Given the description of an element on the screen output the (x, y) to click on. 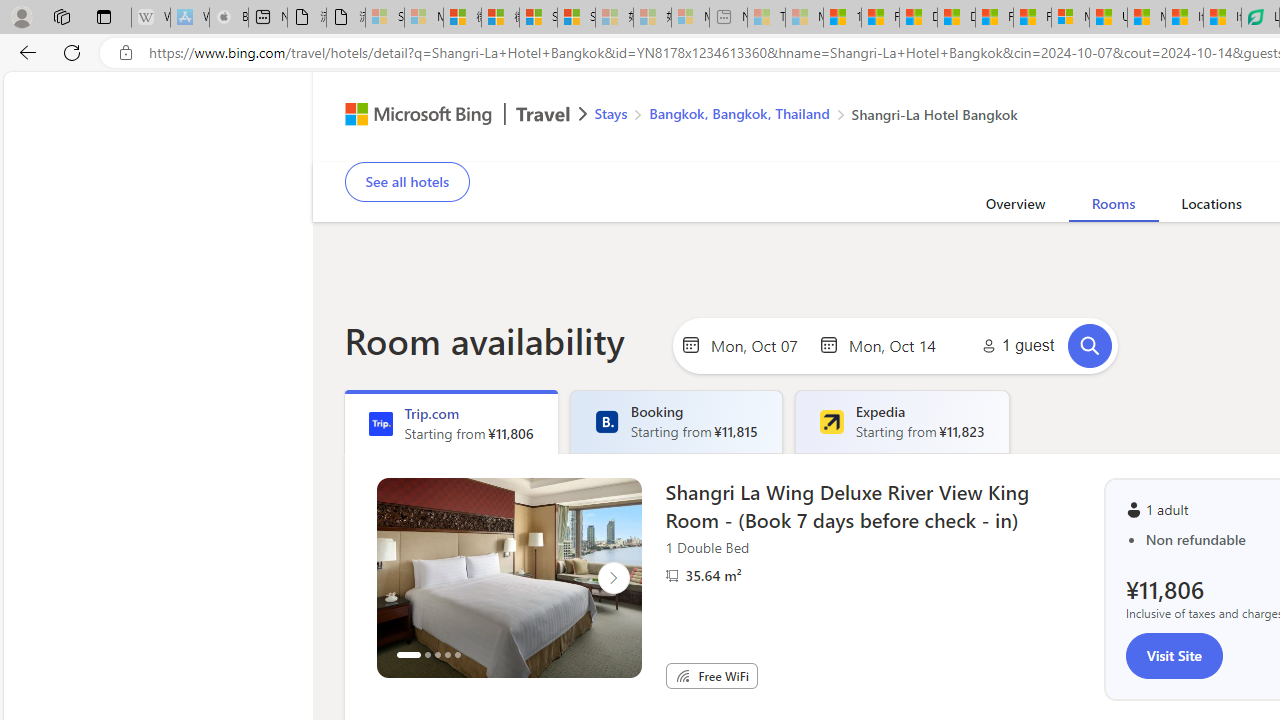
Locations (1211, 207)
Microsoft Bing (410, 116)
Stays (610, 112)
1 guest (1014, 345)
Airport transportation (1089, 148)
Partner Image (671, 575)
Travel (543, 116)
Free parking (856, 148)
Booking (606, 421)
US Heat Deaths Soared To Record High Last Year (1108, 17)
Click to scroll right (612, 578)
Buy iPad - Apple - Sleeping (228, 17)
